Given the description of an element on the screen output the (x, y) to click on. 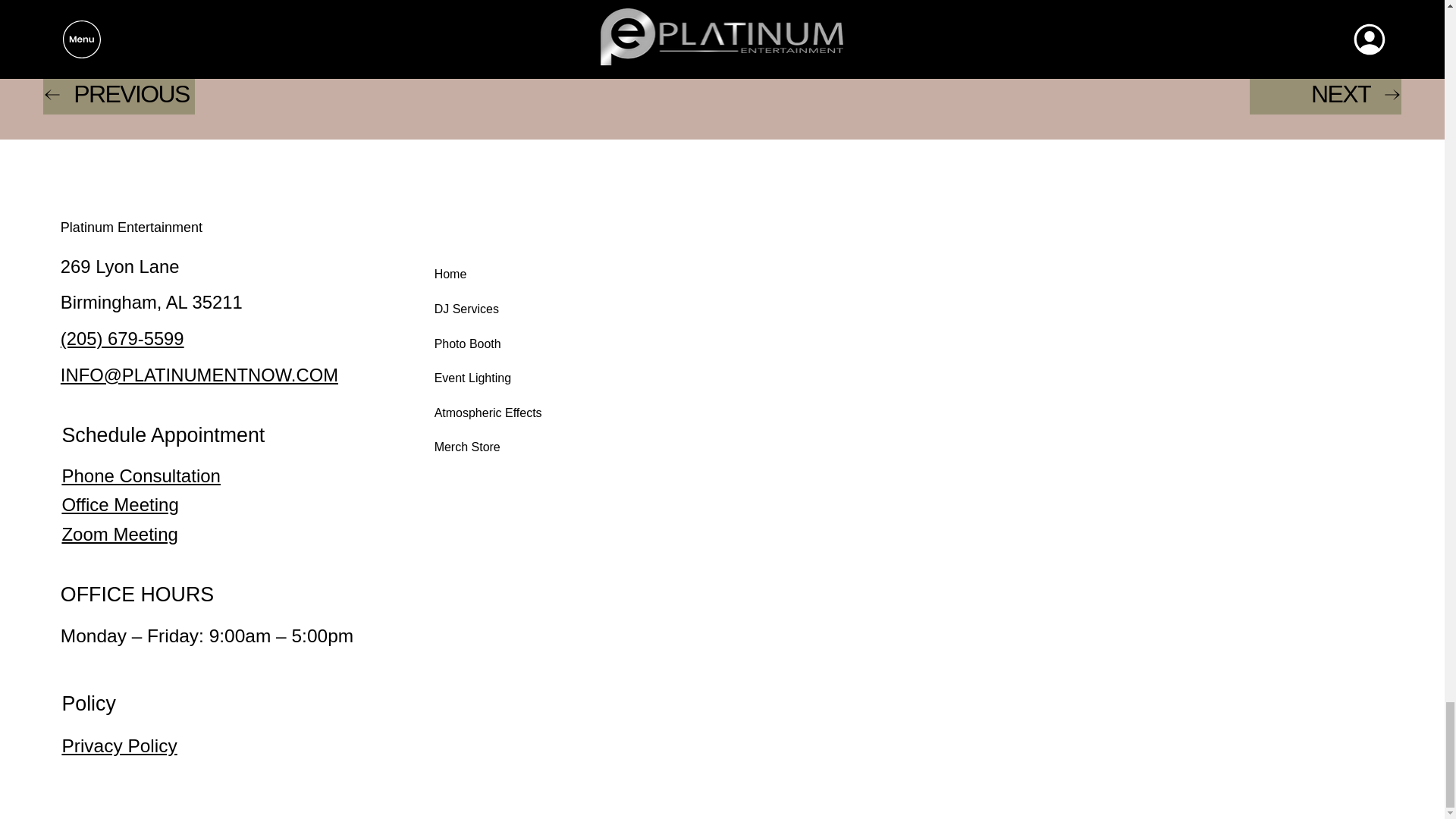
PREVIOUS (119, 94)
Platinum Entertainment (131, 227)
Privacy Policy (118, 745)
Office Meeting (119, 504)
Home (491, 274)
Atmospheric Effects (491, 412)
DJ Services (491, 308)
Event Lighting (491, 378)
NEXT (1324, 94)
Photo Booth (491, 343)
Phone Consultation (140, 476)
Zoom Meeting (119, 534)
Merch Store (491, 447)
